Given the description of an element on the screen output the (x, y) to click on. 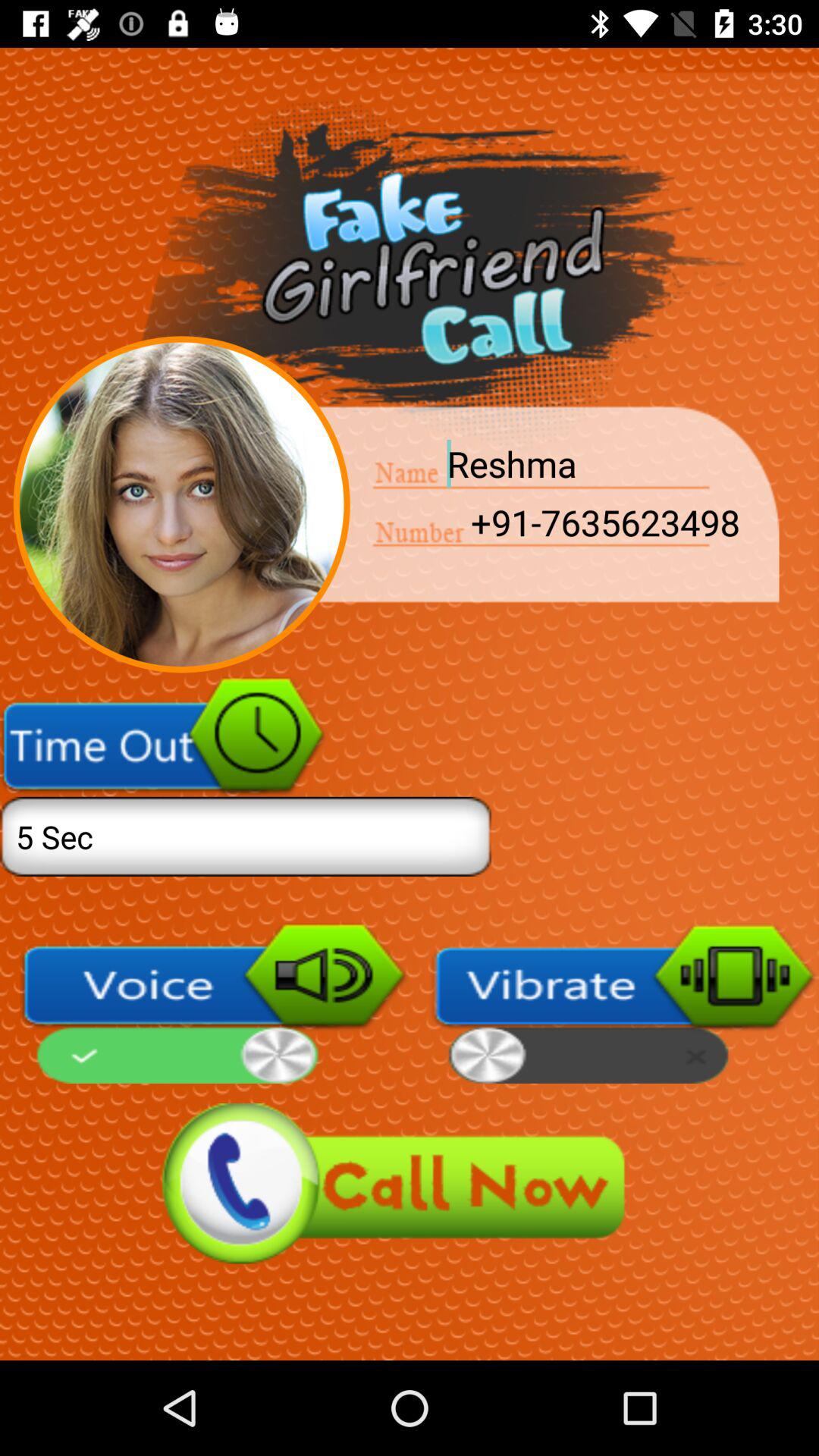
vibrate option the article (624, 1003)
